Given the description of an element on the screen output the (x, y) to click on. 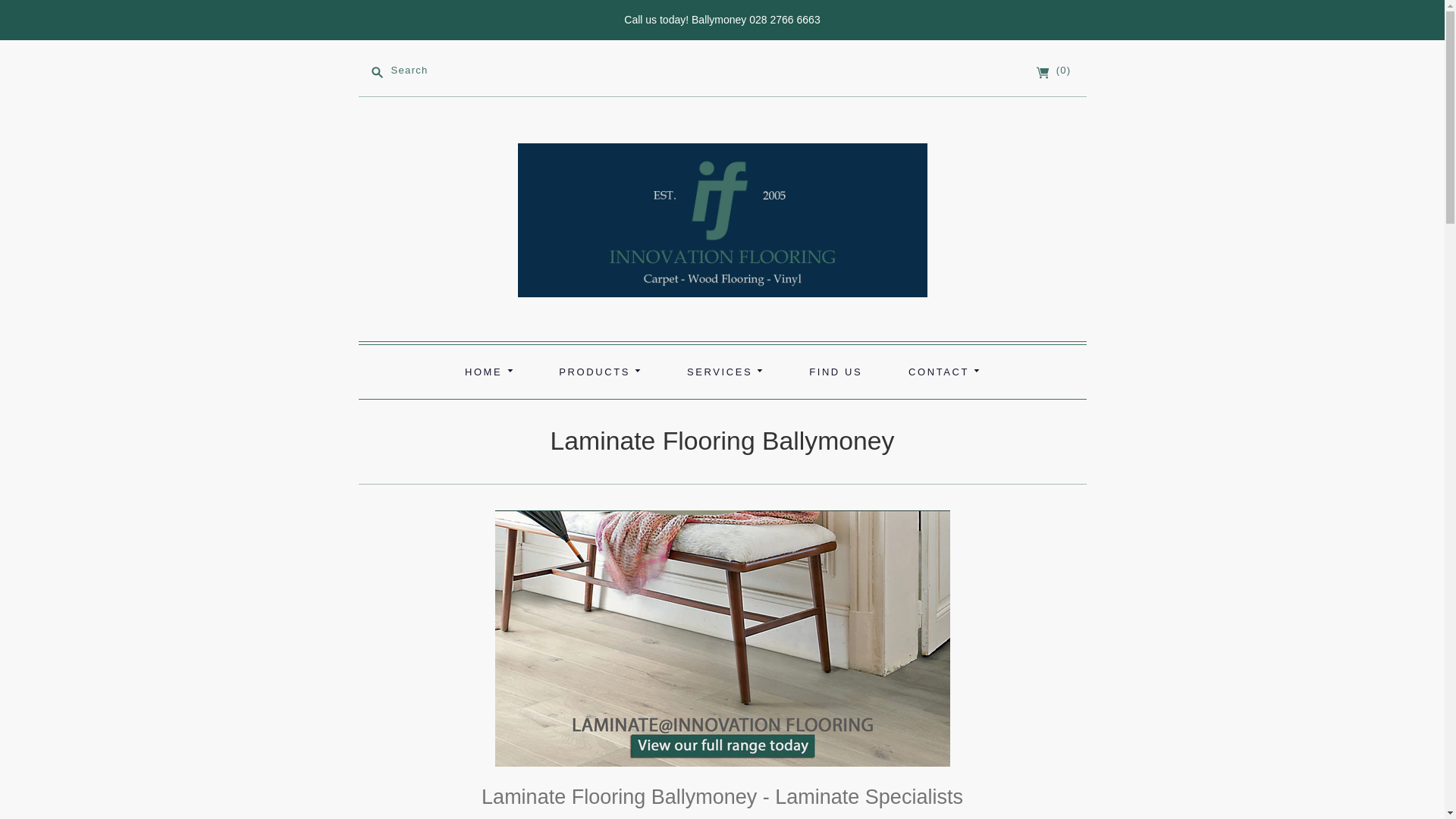
HOME (488, 371)
CONTACT (943, 371)
PRODUCTS (599, 371)
FIND US (835, 371)
SERVICES (724, 371)
